Given the description of an element on the screen output the (x, y) to click on. 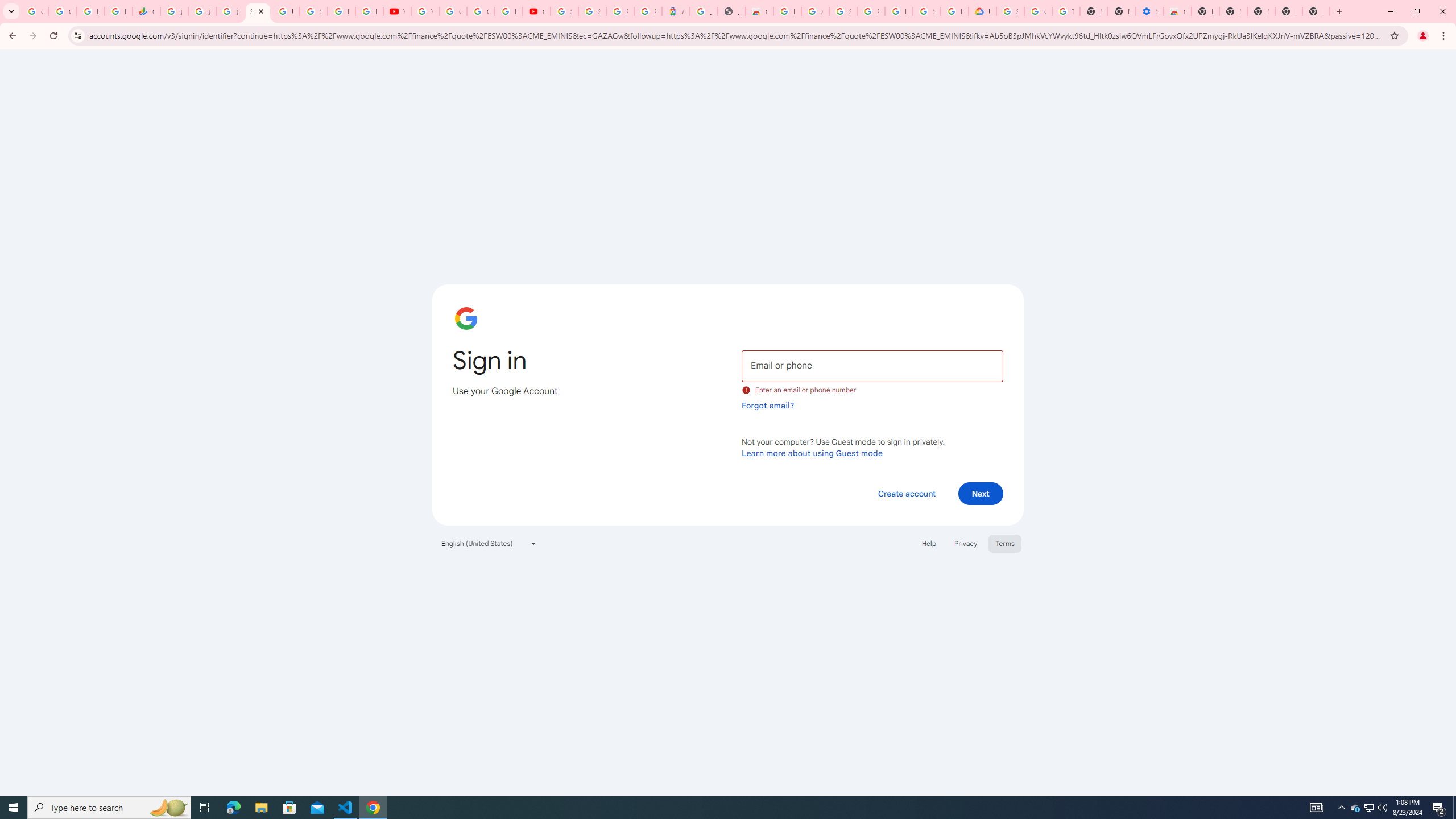
Sign in - Google Accounts (926, 11)
Settings - Accessibility (1150, 11)
Sign in - Google Accounts (257, 11)
Content Creator Programs & Opportunities - YouTube Creators (536, 11)
Chrome Web Store - Household (759, 11)
Create account (905, 493)
Google Workspace Admin Community (34, 11)
New Tab (1316, 11)
